Given the description of an element on the screen output the (x, y) to click on. 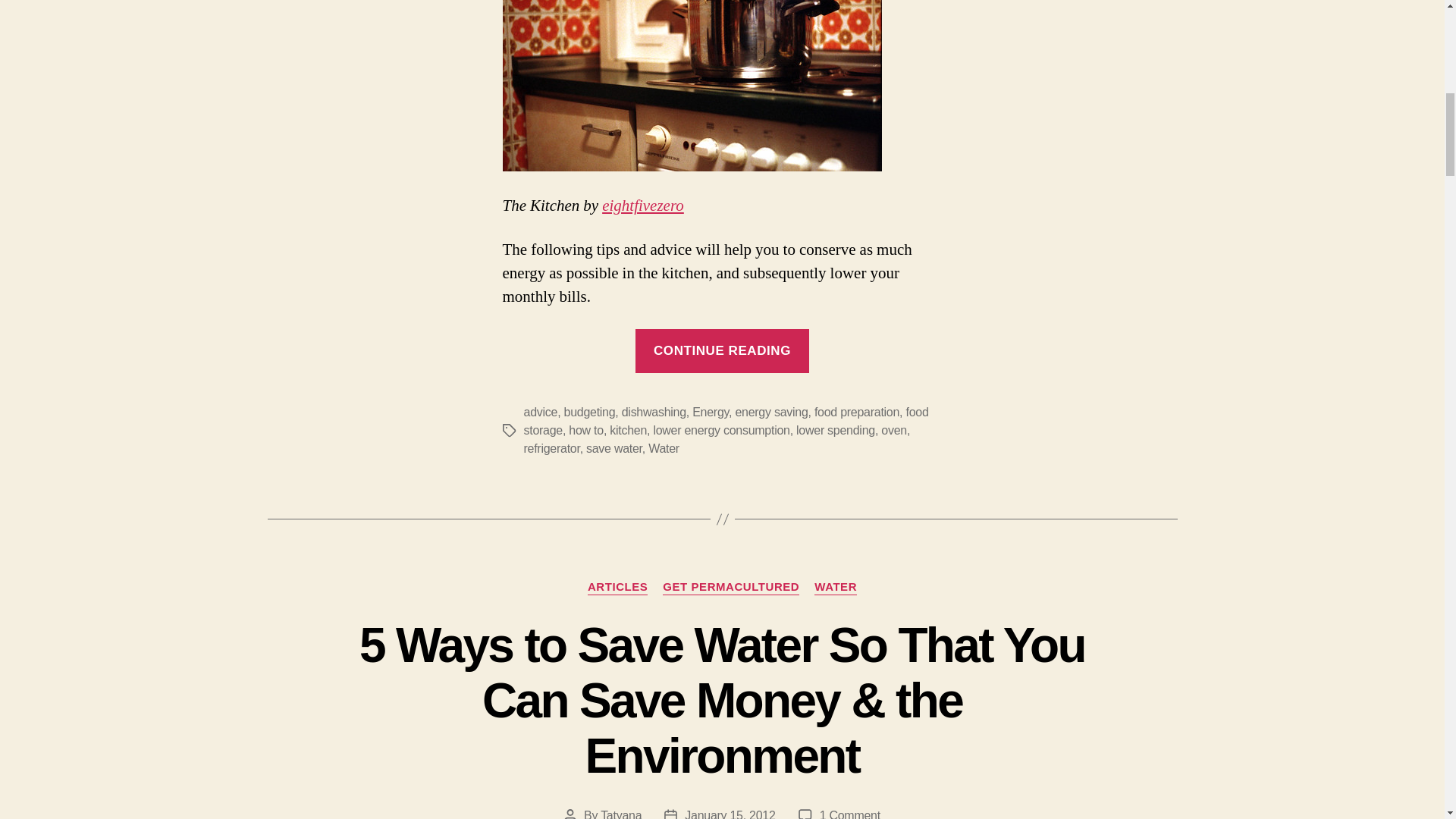
energy saving (771, 411)
budgeting (589, 411)
Energy (711, 411)
dishwashing (653, 411)
food storage (725, 420)
food preparation (856, 411)
advice (539, 411)
The Kitchen (643, 205)
The kitchen by eightfivezero, on Flickr (722, 96)
eightfivezero (643, 205)
